Given the description of an element on the screen output the (x, y) to click on. 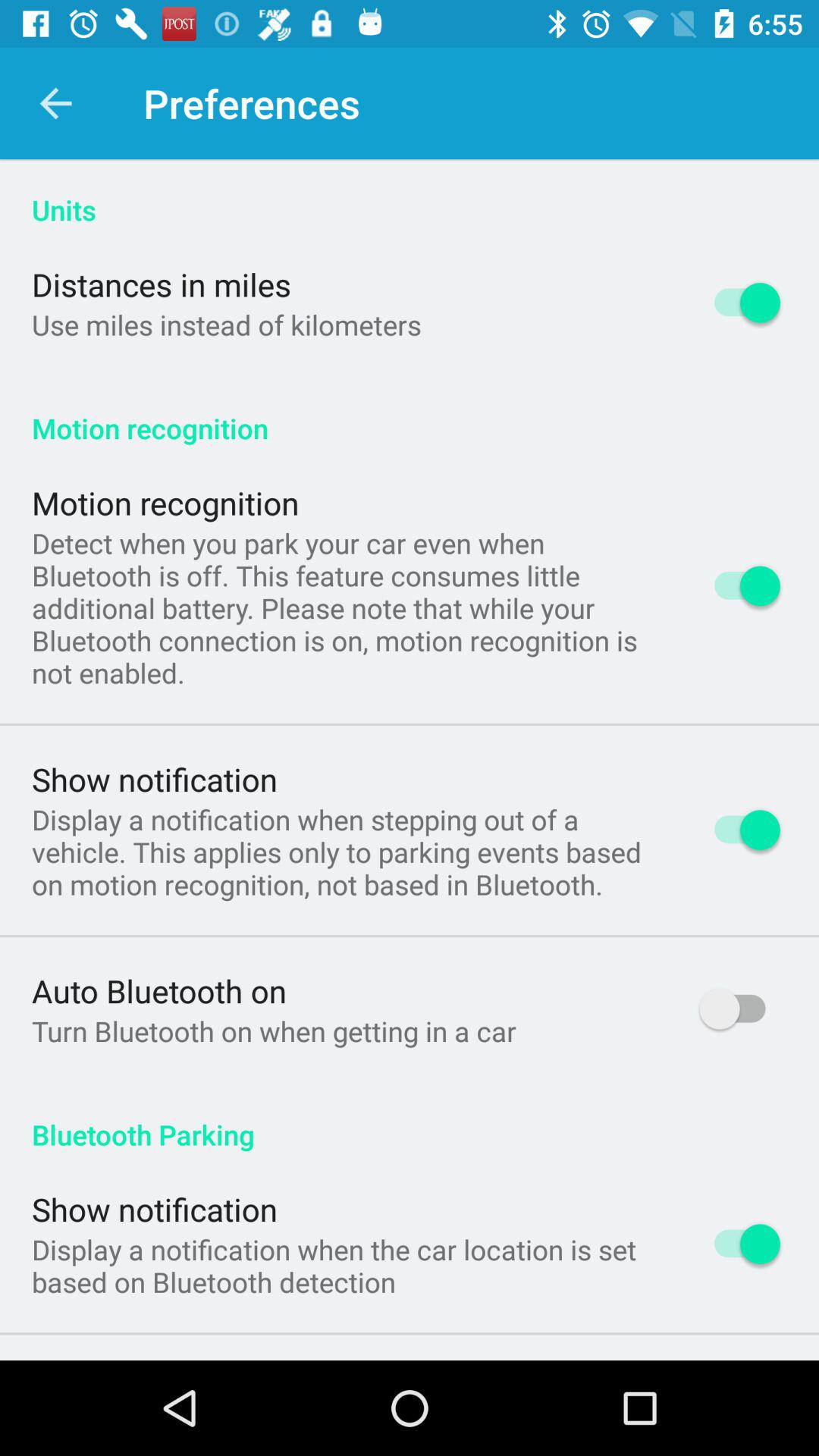
scroll to use miles instead icon (226, 324)
